Given the description of an element on the screen output the (x, y) to click on. 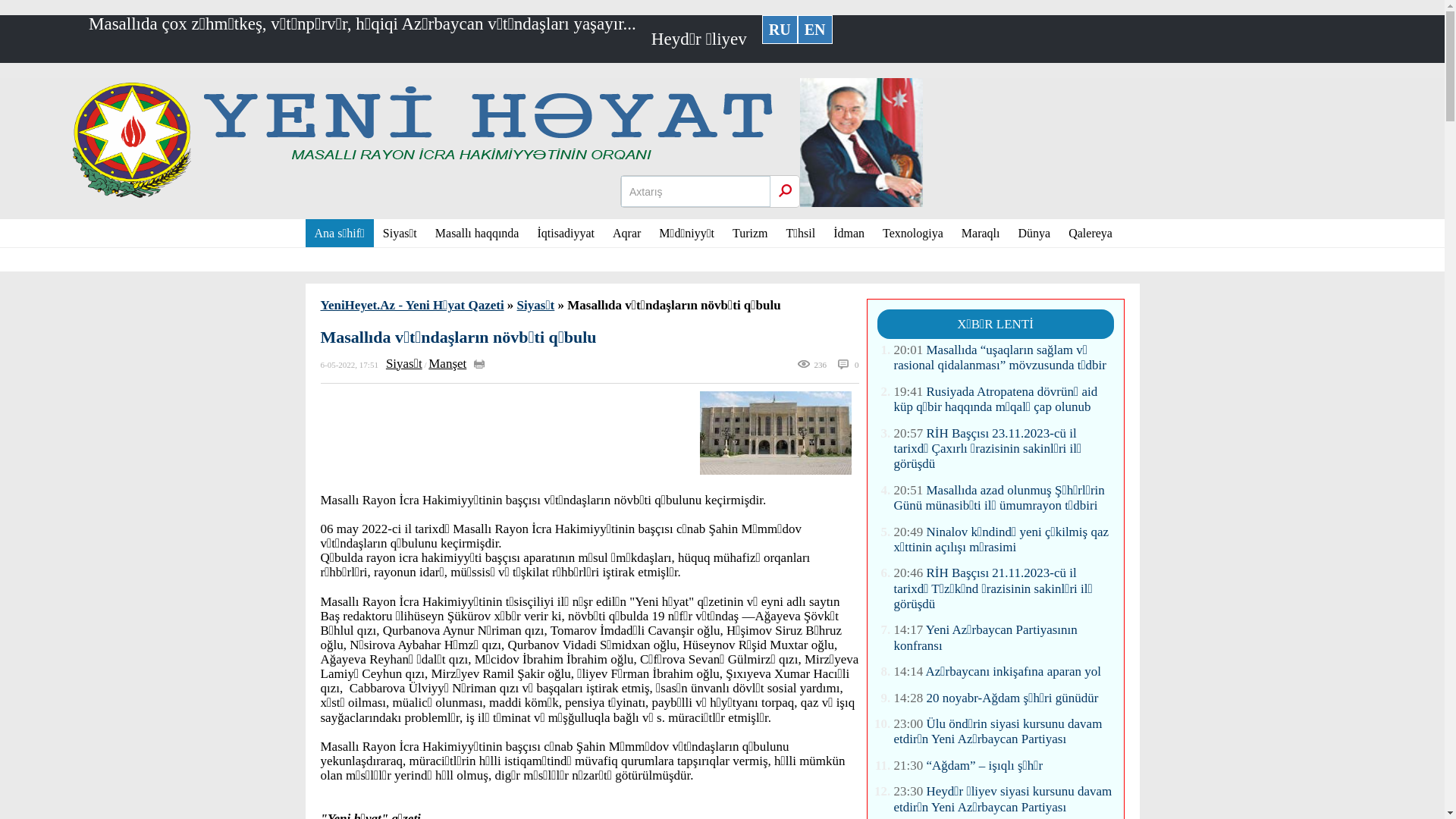
EN Element type: text (814, 29)
Qalereya Element type: text (1090, 233)
Texnologiya Element type: text (912, 233)
OK Element type: text (784, 190)
Turizm Element type: text (750, 233)
RU Element type: text (779, 29)
Aqrar Element type: text (626, 233)
